Given the description of an element on the screen output the (x, y) to click on. 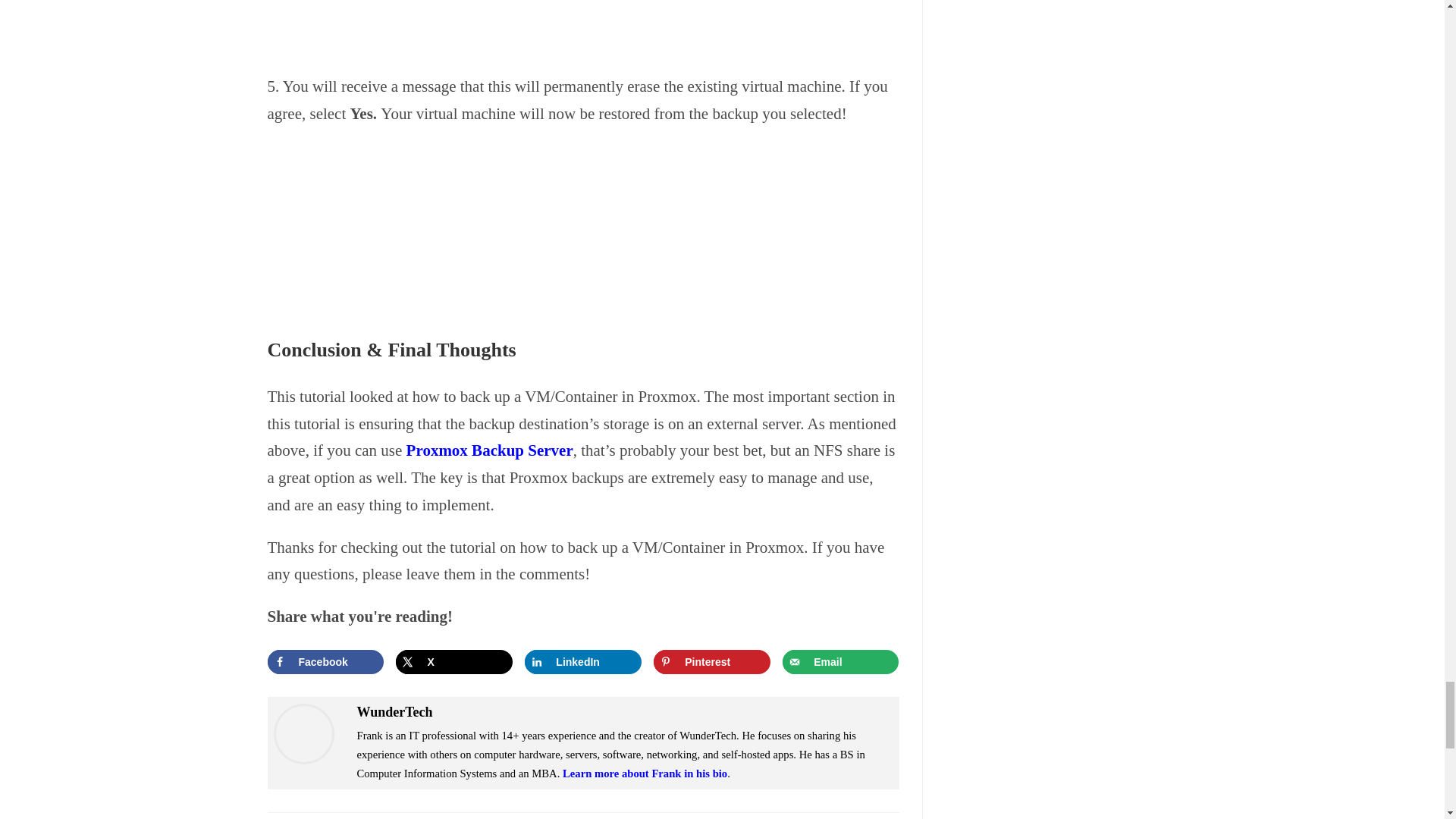
Visit author page (303, 733)
Share on X (454, 662)
Facebook (324, 662)
Pinterest (711, 662)
Share on LinkedIn (582, 662)
LinkedIn (582, 662)
Send over email (840, 662)
WunderTech (394, 711)
Share on Facebook (324, 662)
Email (840, 662)
